Given the description of an element on the screen output the (x, y) to click on. 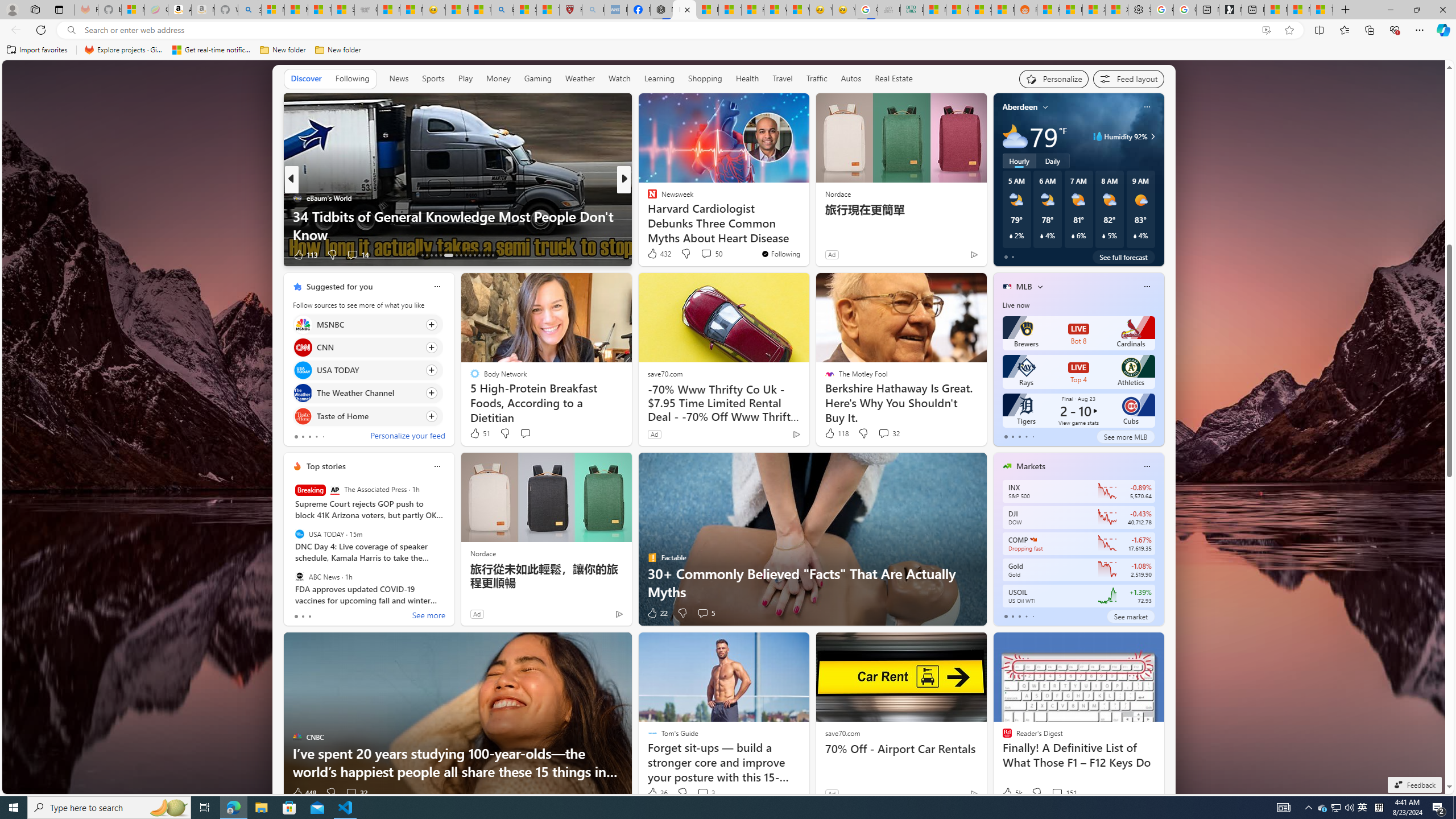
AutomationID: tab-67 (426, 255)
View comments 6 Comment (703, 254)
The Weather Channel (302, 393)
Sports (432, 78)
The Associated Press (334, 490)
36 Like (657, 792)
View comments 14 Comment (703, 254)
tab-3 (1025, 616)
Moneywise (647, 197)
